Given the description of an element on the screen output the (x, y) to click on. 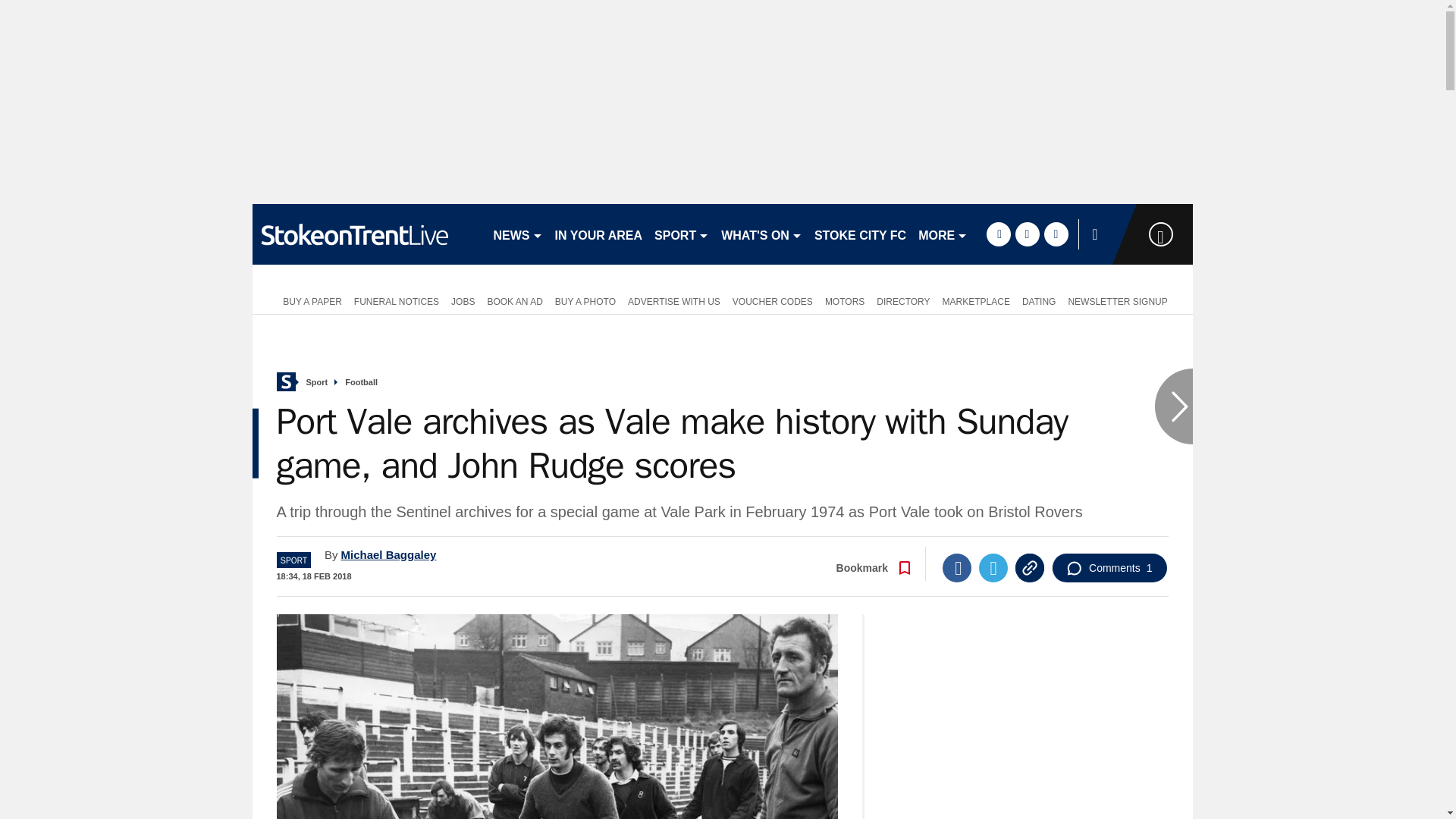
twitter (1026, 233)
Twitter (992, 567)
STOKE CITY FC (860, 233)
SPORT (680, 233)
facebook (997, 233)
IN YOUR AREA (598, 233)
stokesentinel (365, 233)
WHAT'S ON (761, 233)
MORE (943, 233)
instagram (1055, 233)
